Given the description of an element on the screen output the (x, y) to click on. 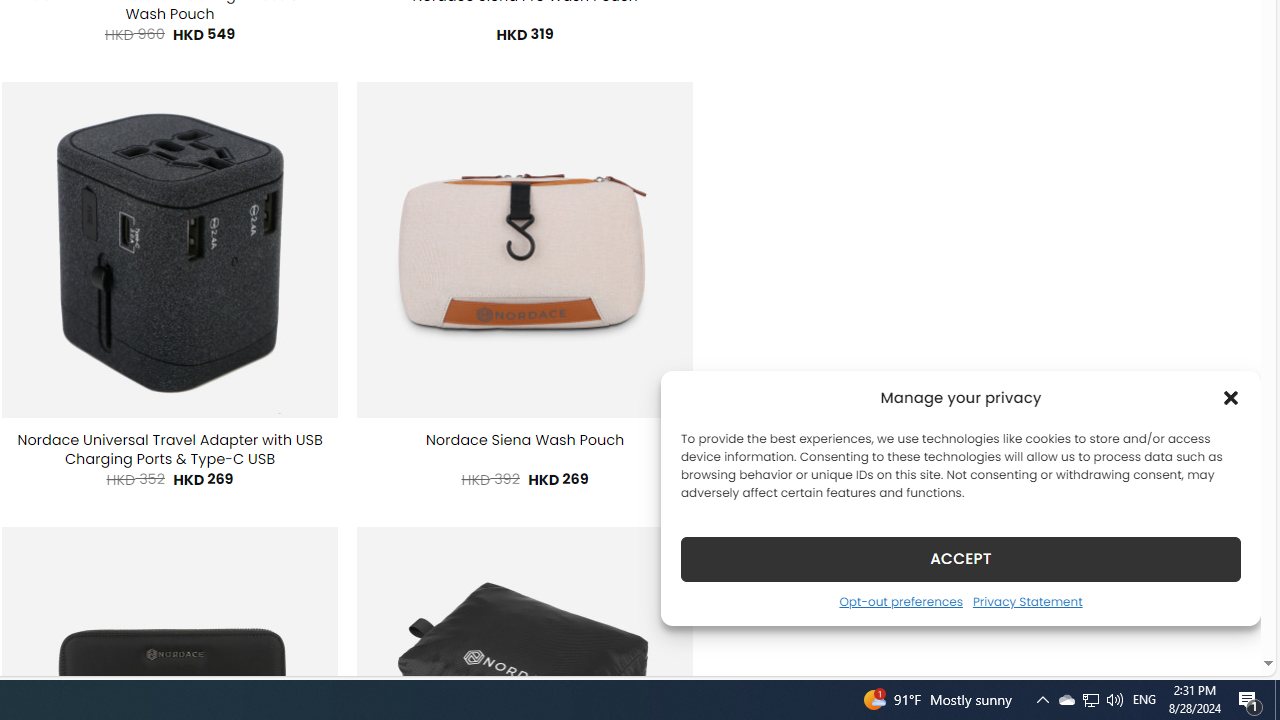
ACCEPT (960, 558)
Privacy Statement (1026, 601)
Opt-out preferences (900, 601)
Nordace Siena Wash Pouch (524, 440)
Class: cmplz-close (1231, 397)
